Given the description of an element on the screen output the (x, y) to click on. 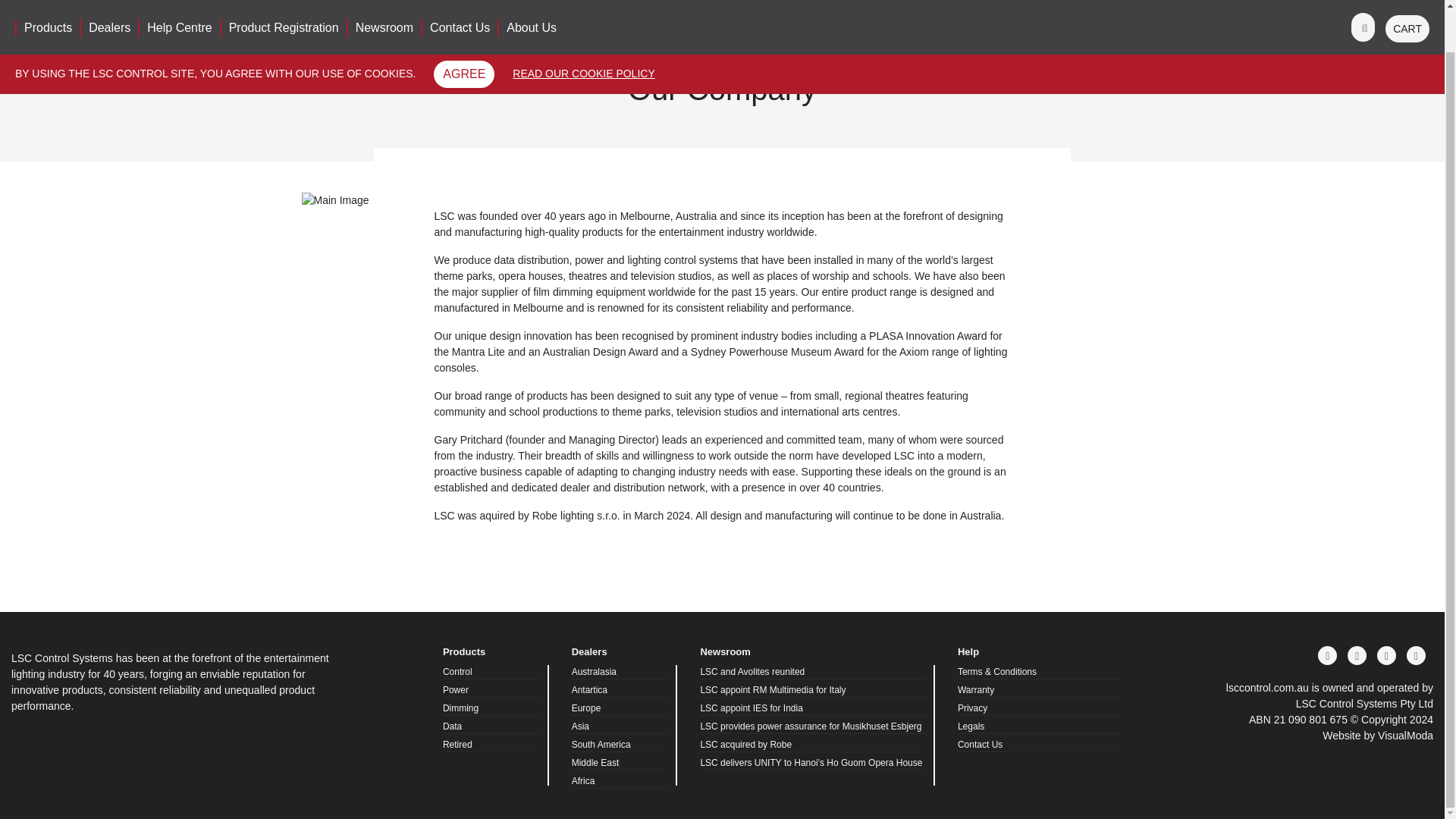
LSC Twitter (1386, 655)
LSC Instagram (1357, 655)
LSC Youtube (1415, 655)
LSC Facebook (1326, 655)
Website design (1377, 735)
